Given the description of an element on the screen output the (x, y) to click on. 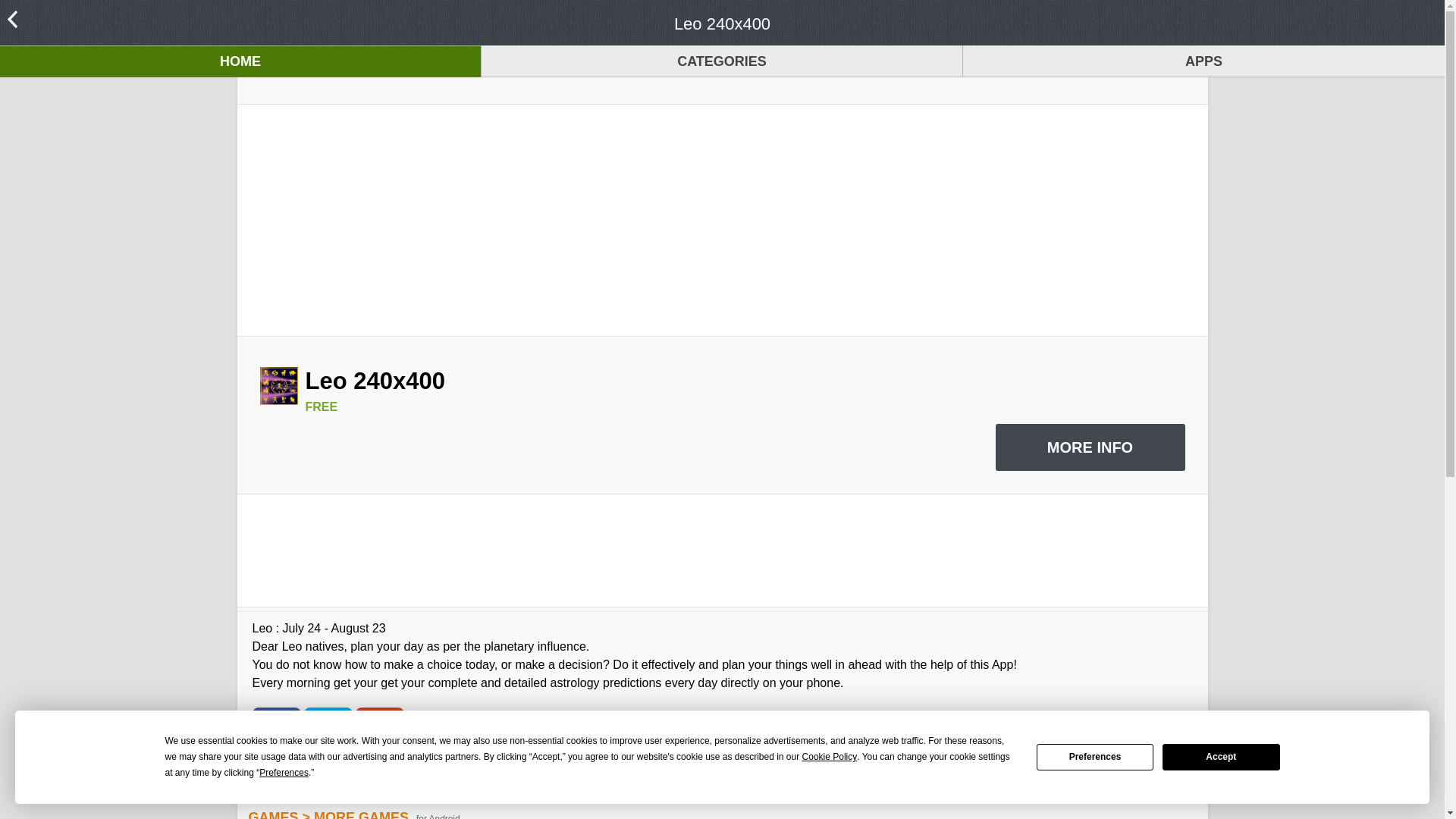
MORE INFO (1089, 447)
Preferences (1094, 756)
HOME (240, 60)
Report app for spam or abuse! (721, 790)
CATEGORIES (721, 60)
Cookie Policy (829, 756)
Accept (1220, 756)
Share on Facebook (275, 730)
Preferences (283, 772)
Tweet (328, 730)
GAMES (273, 814)
MORE GAMES (361, 814)
